Given the description of an element on the screen output the (x, y) to click on. 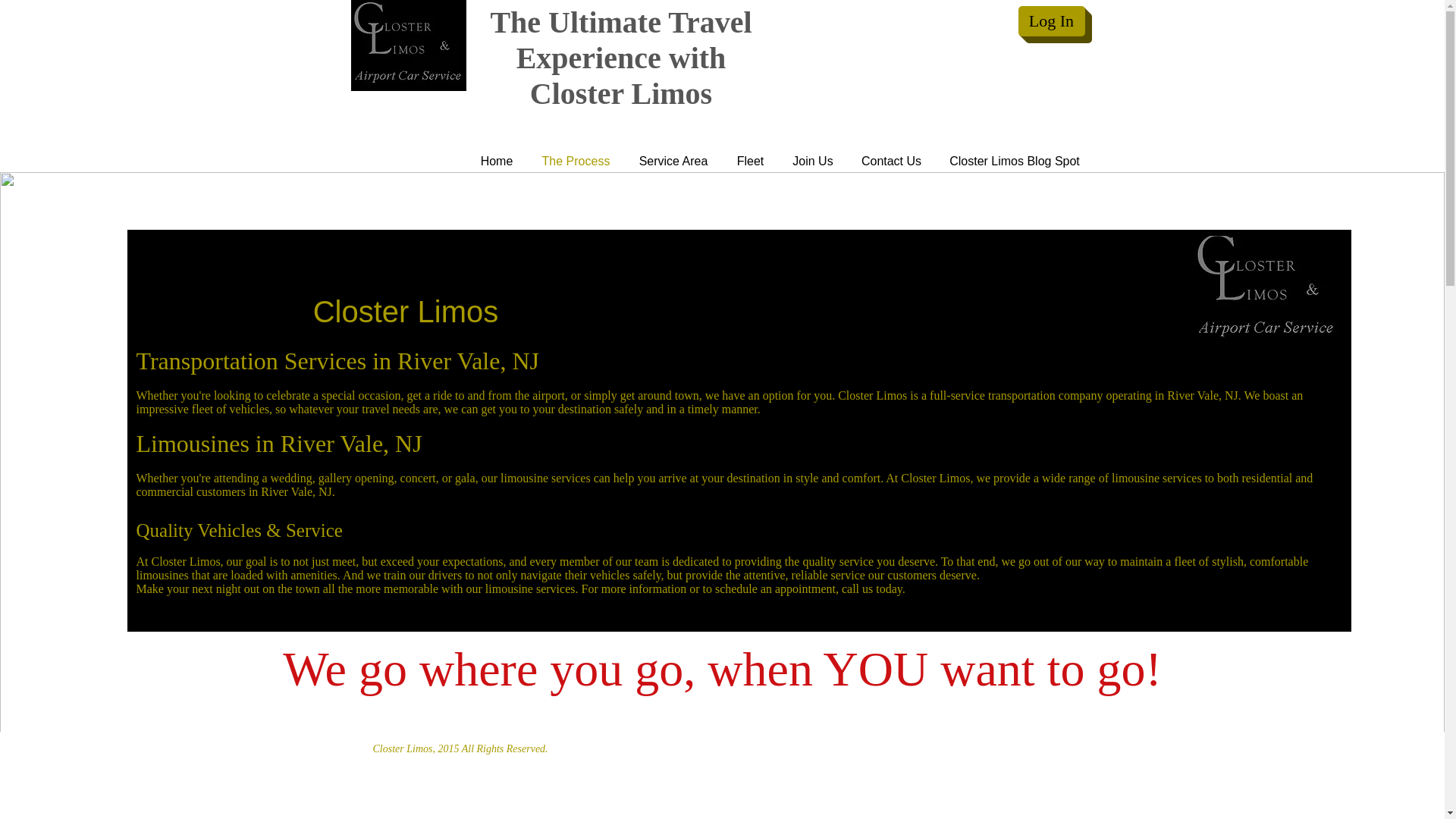
Closter Limos Logo.jpg (407, 45)
Closter Limos Logo.jpg (1266, 289)
The Process (575, 160)
Log In (1050, 20)
Home (496, 160)
